Given the description of an element on the screen output the (x, y) to click on. 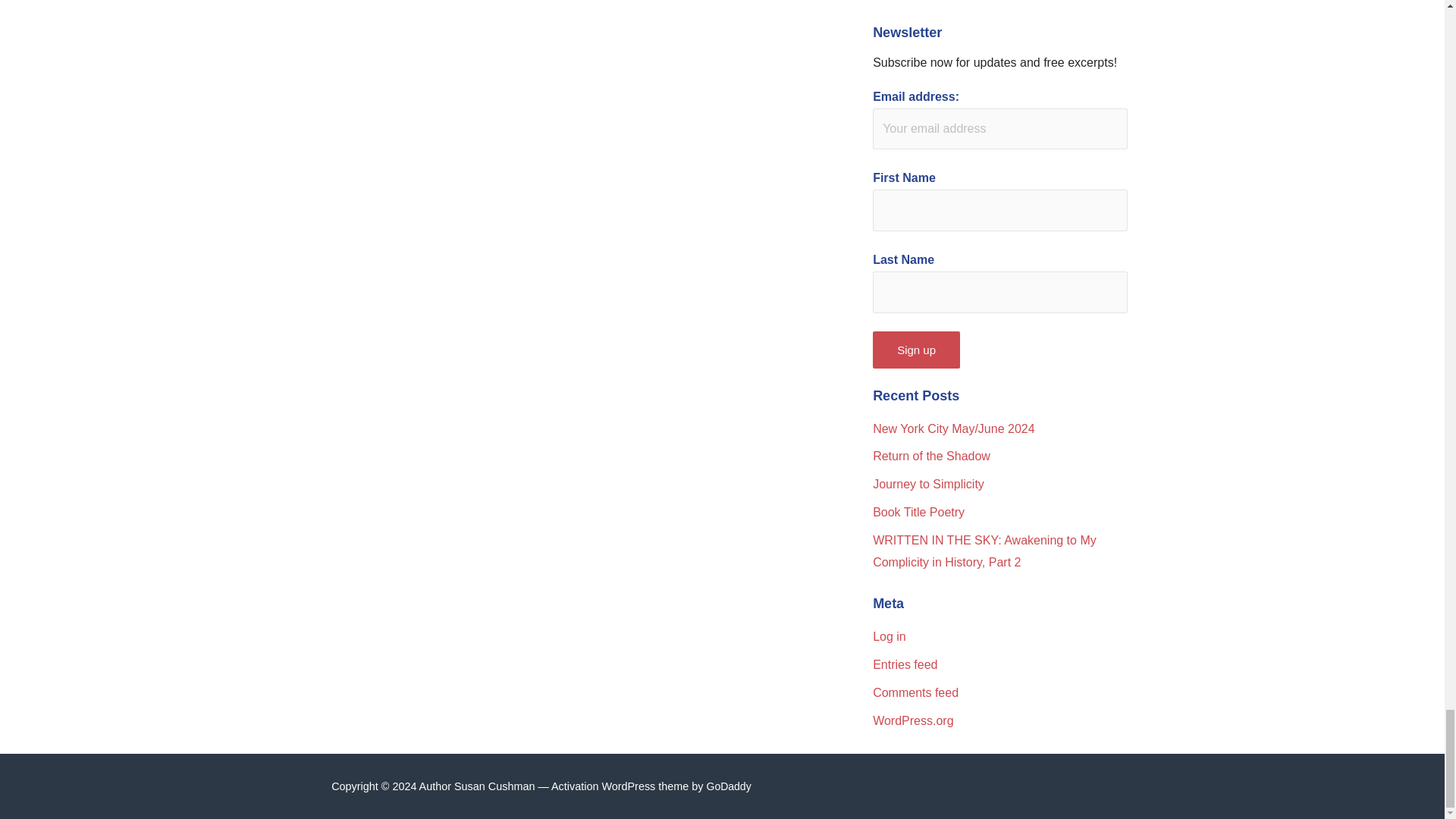
Sign up (915, 349)
